Given the description of an element on the screen output the (x, y) to click on. 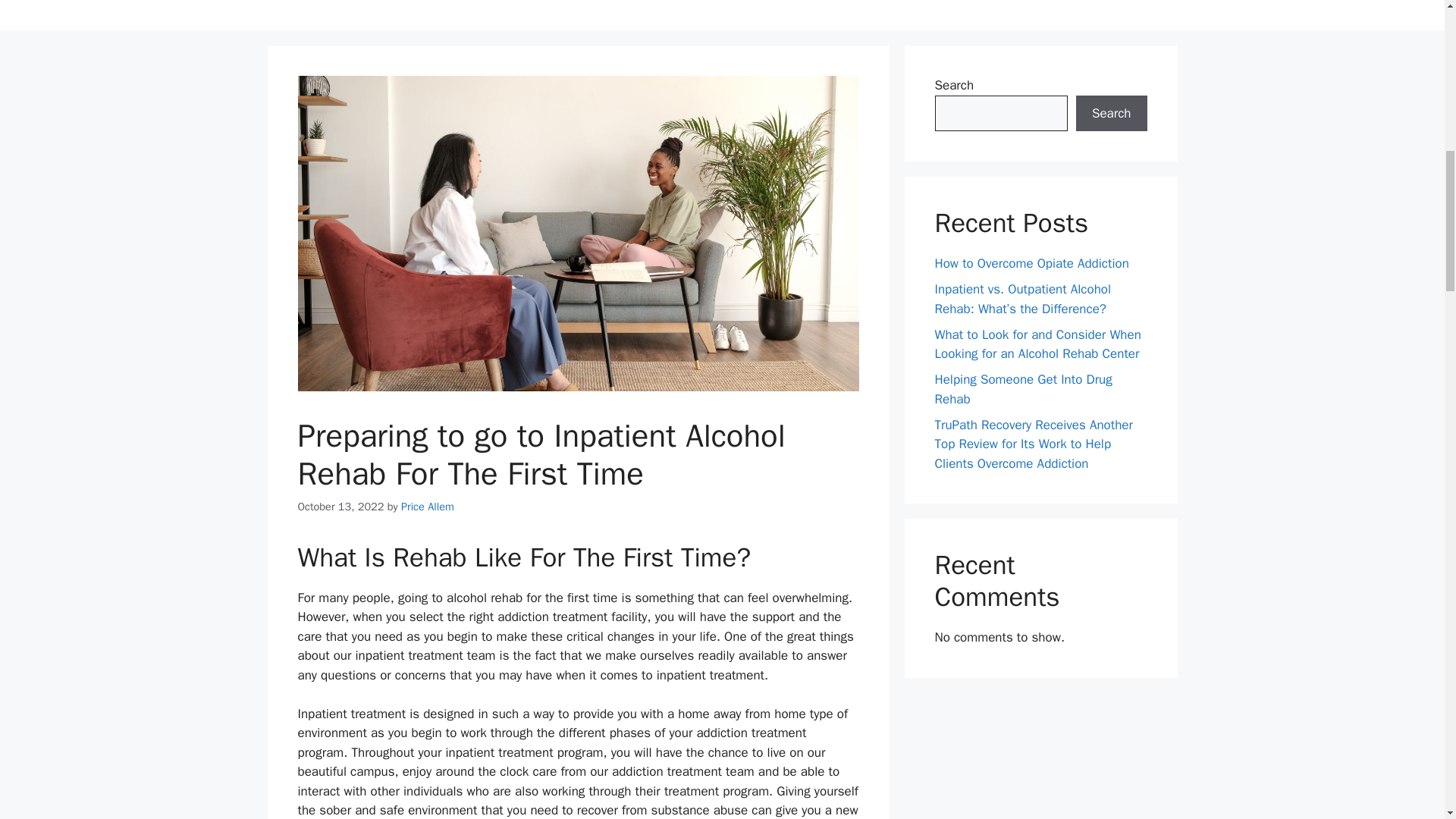
View all posts by Price Allem (427, 506)
